Given the description of an element on the screen output the (x, y) to click on. 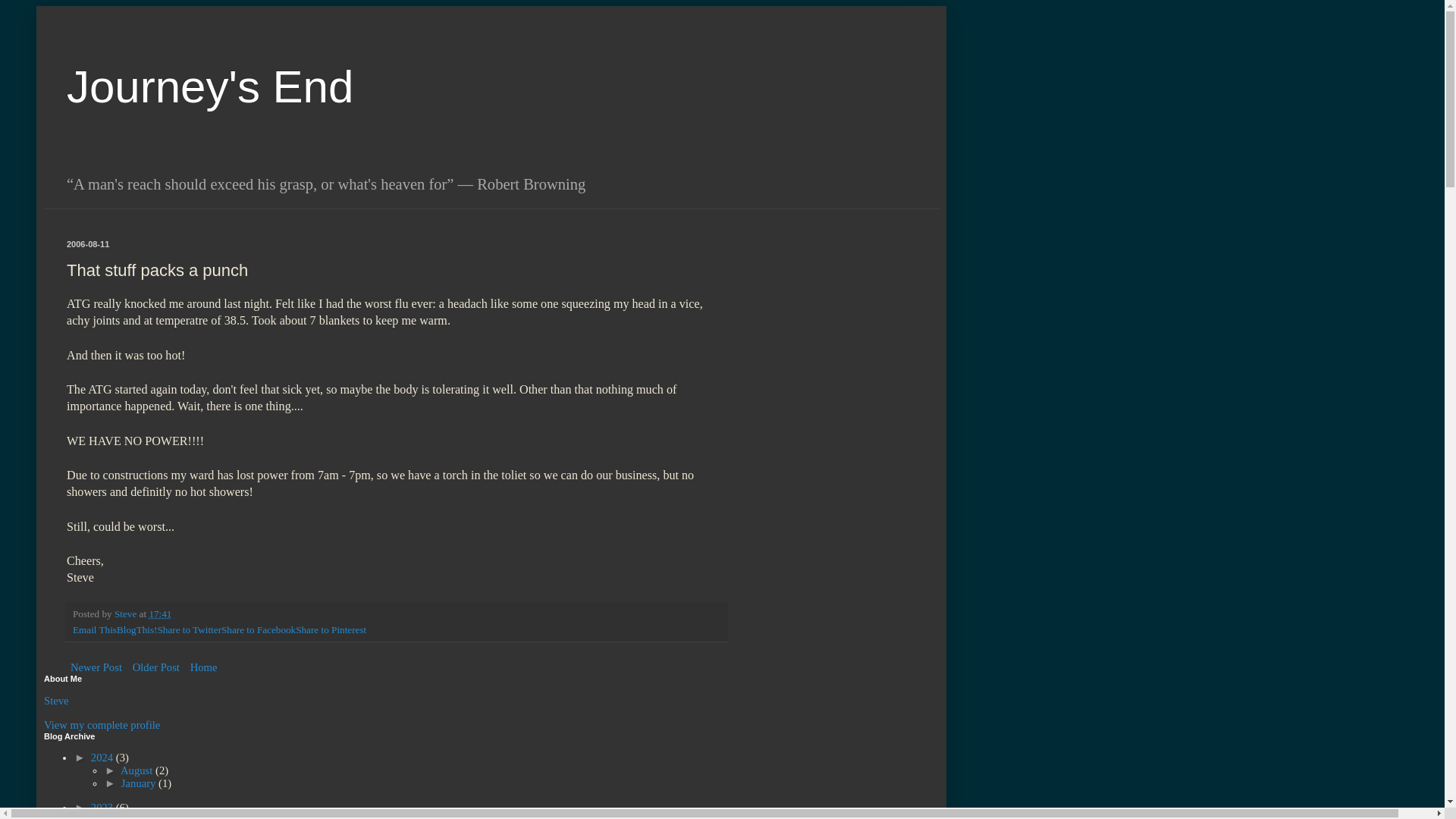
2023 (103, 807)
Older Post (156, 667)
BlogThis! (136, 629)
August (137, 770)
2024 (103, 757)
Journey's End (209, 86)
Steve (55, 700)
Share to Twitter (189, 629)
17:41 (159, 613)
Steve (127, 613)
